Given the description of an element on the screen output the (x, y) to click on. 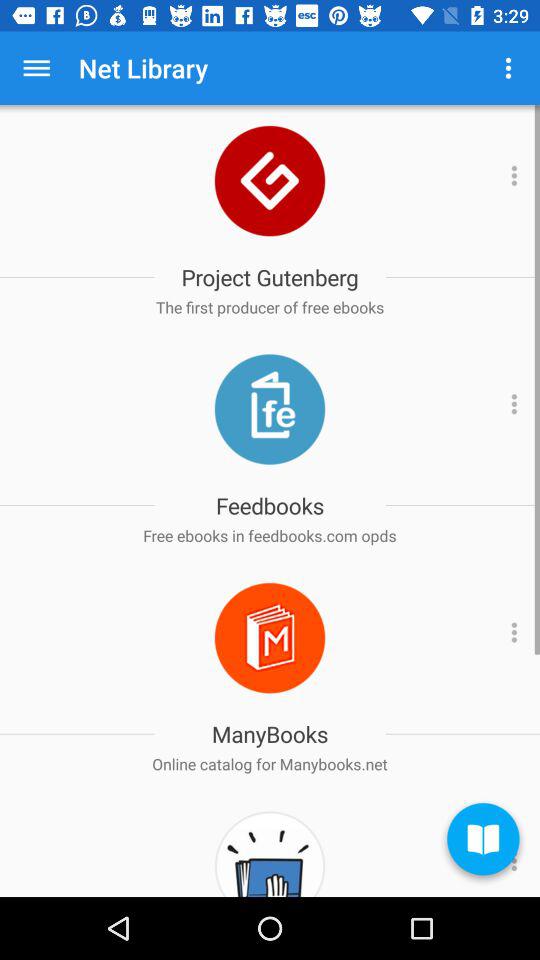
press the app next to the net library app (508, 67)
